Given the description of an element on the screen output the (x, y) to click on. 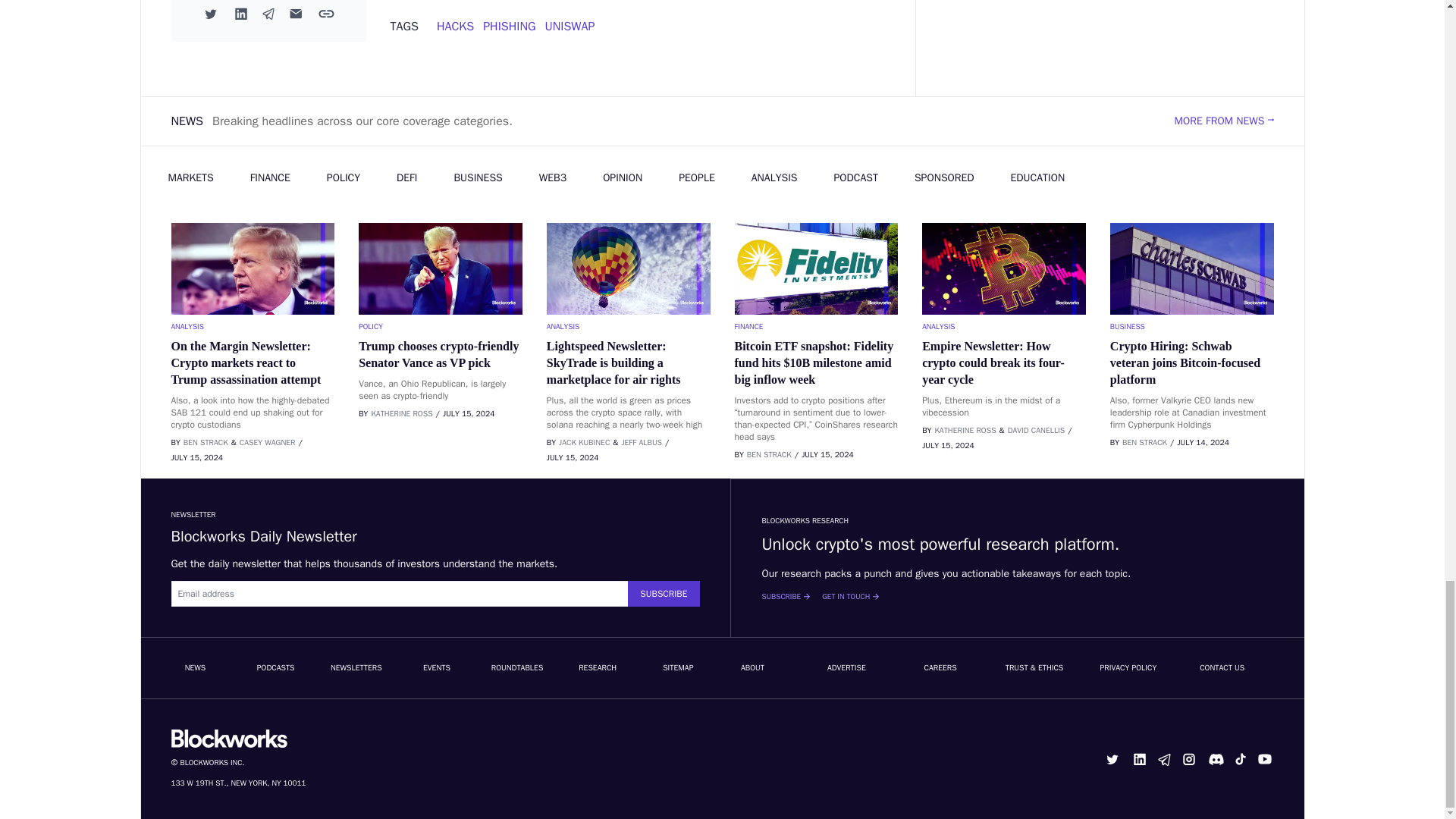
BUSINESS (1191, 326)
ANALYSIS (1003, 326)
FINANCE (815, 326)
POLICY (440, 326)
ANALYSIS (628, 326)
ANALYSIS (252, 326)
